Given the description of an element on the screen output the (x, y) to click on. 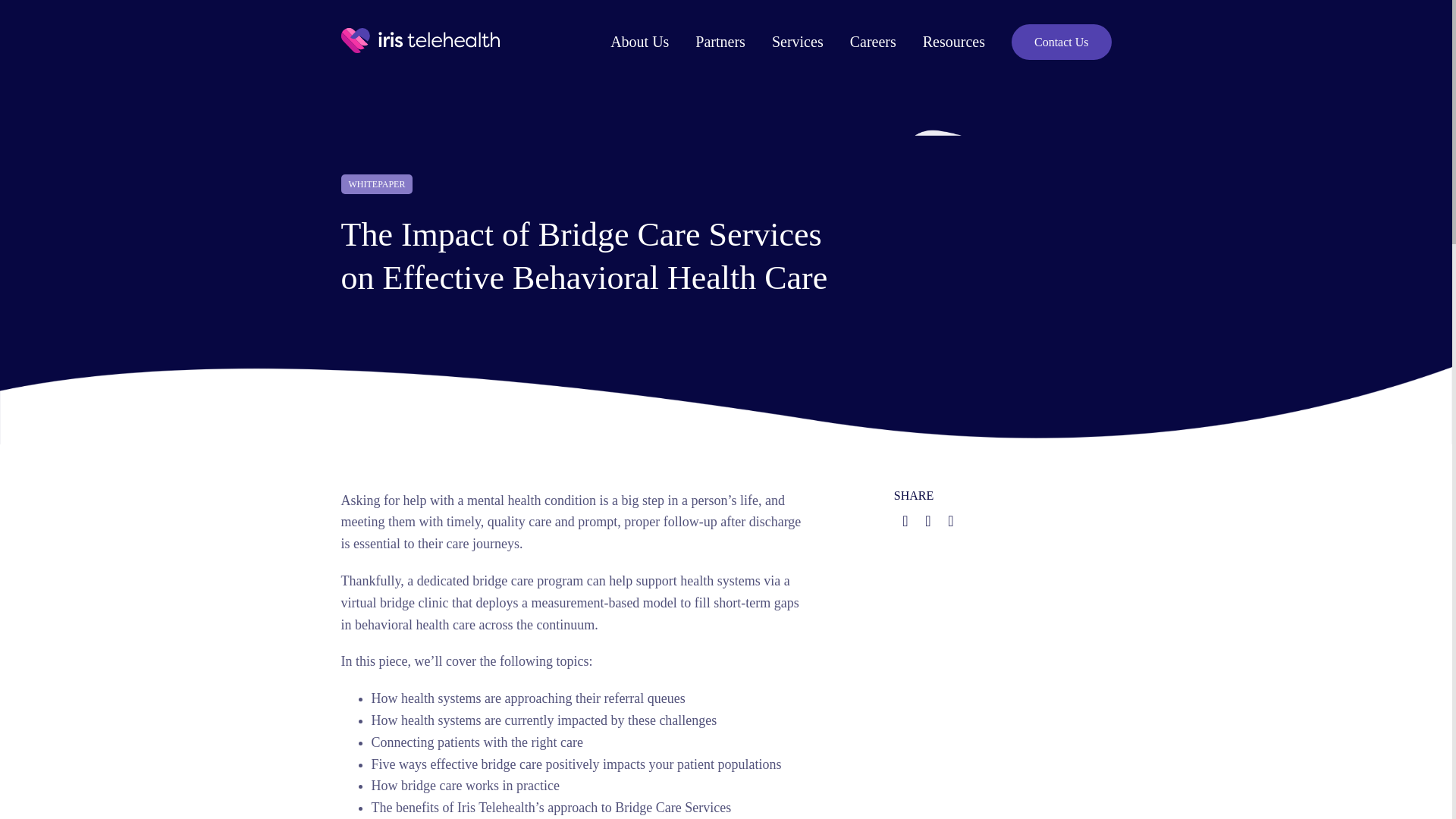
About Us (639, 41)
Contact Us (1061, 41)
Resources (954, 41)
